Given the description of an element on the screen output the (x, y) to click on. 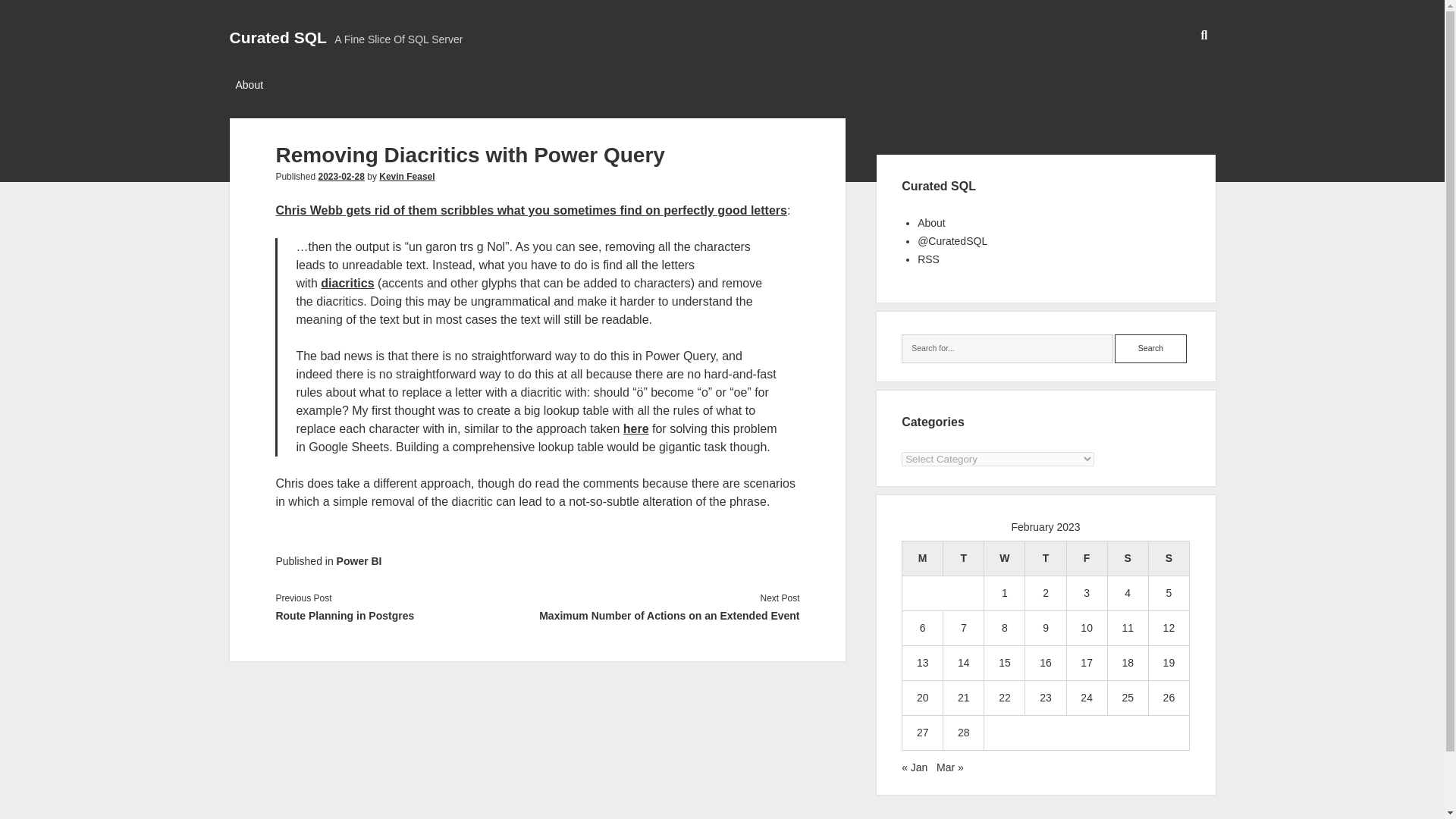
28 (963, 732)
27 (922, 732)
23 (1045, 697)
Search (1150, 348)
About (930, 223)
10 (1086, 627)
Power BI (358, 561)
22 (1004, 697)
About (248, 85)
diacritics (347, 282)
